Given the description of an element on the screen output the (x, y) to click on. 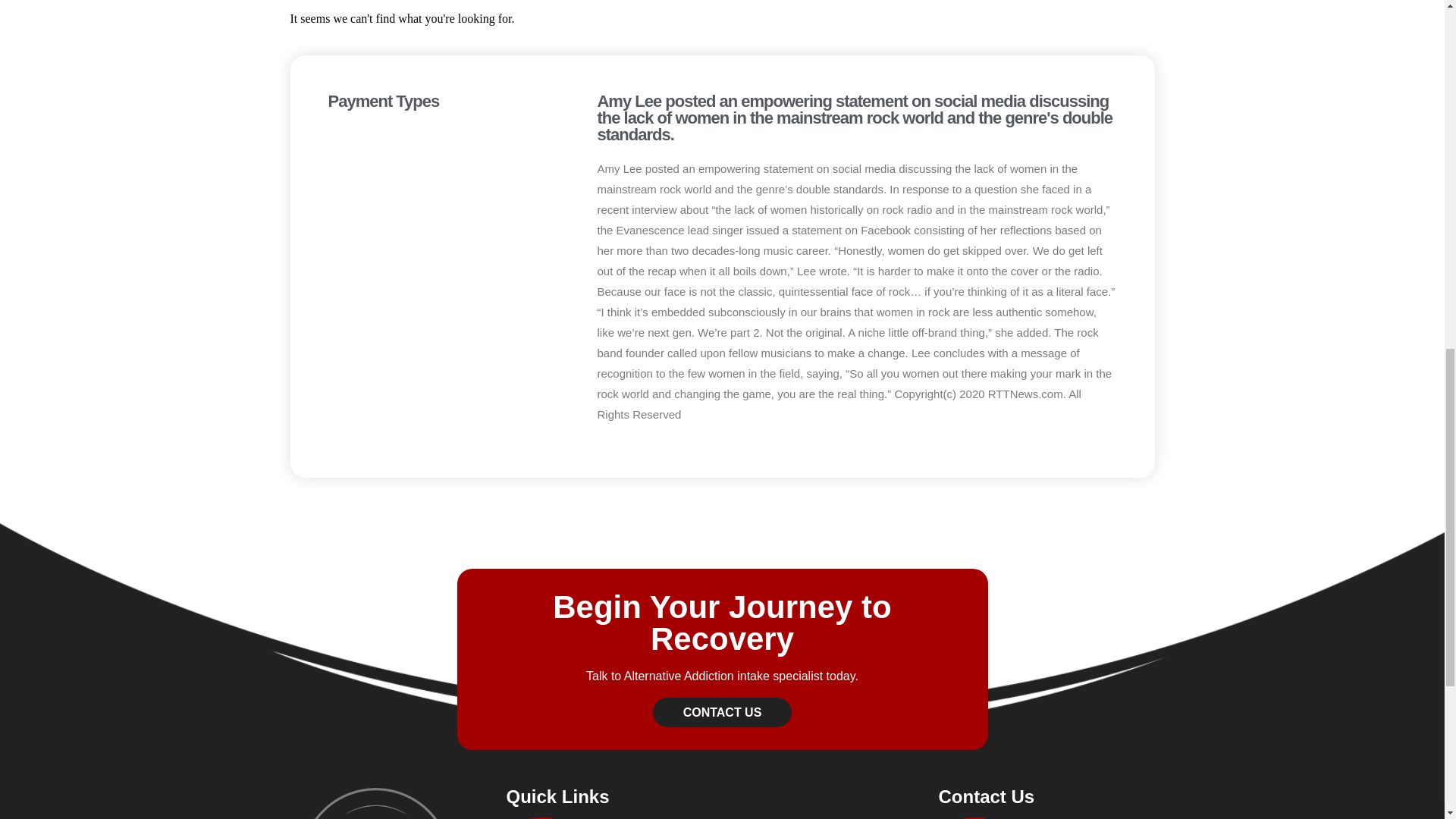
It seems we can't find what you're looking for. (721, 19)
